Given the description of an element on the screen output the (x, y) to click on. 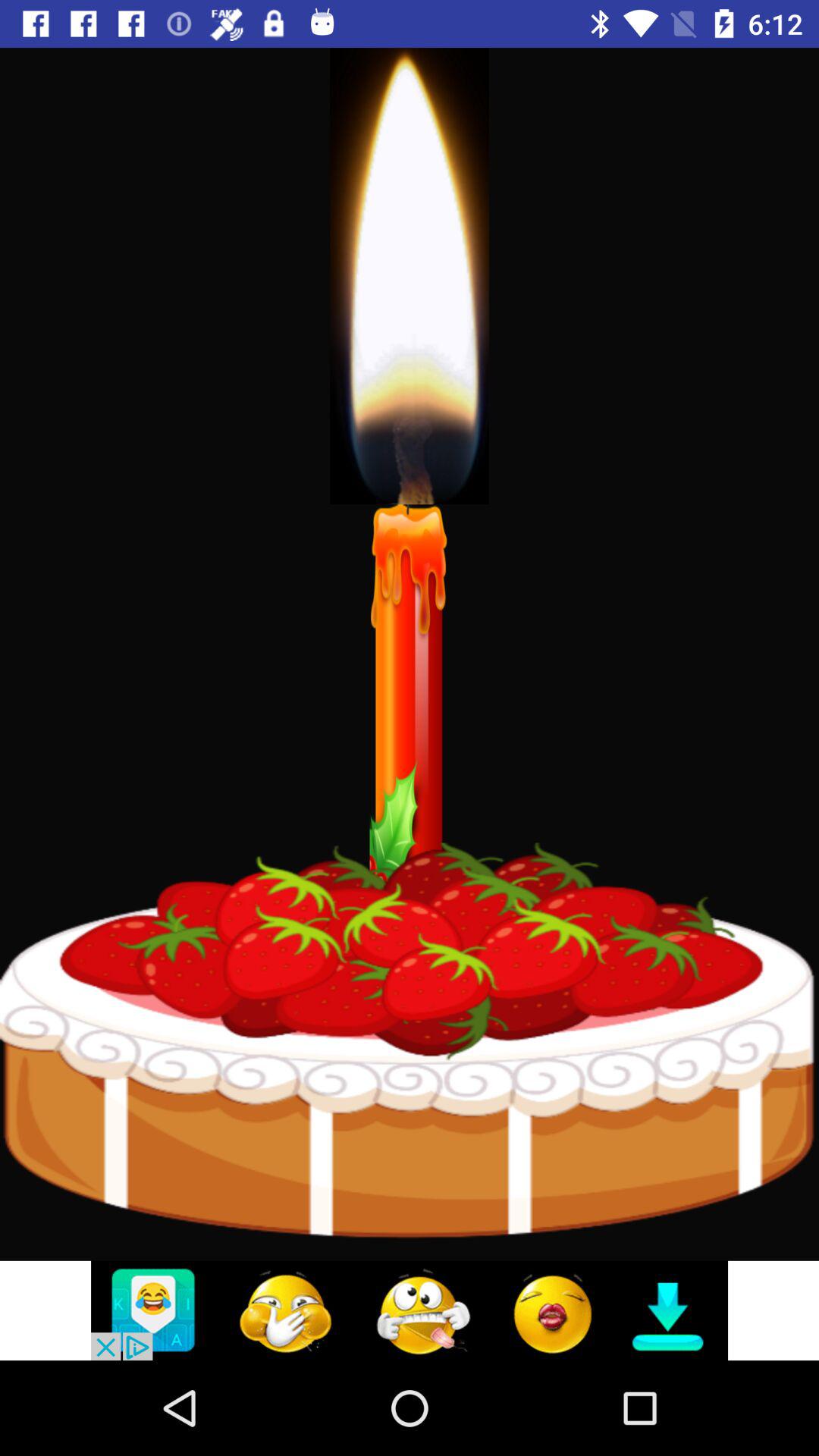
click on advertisement (409, 1310)
